Given the description of an element on the screen output the (x, y) to click on. 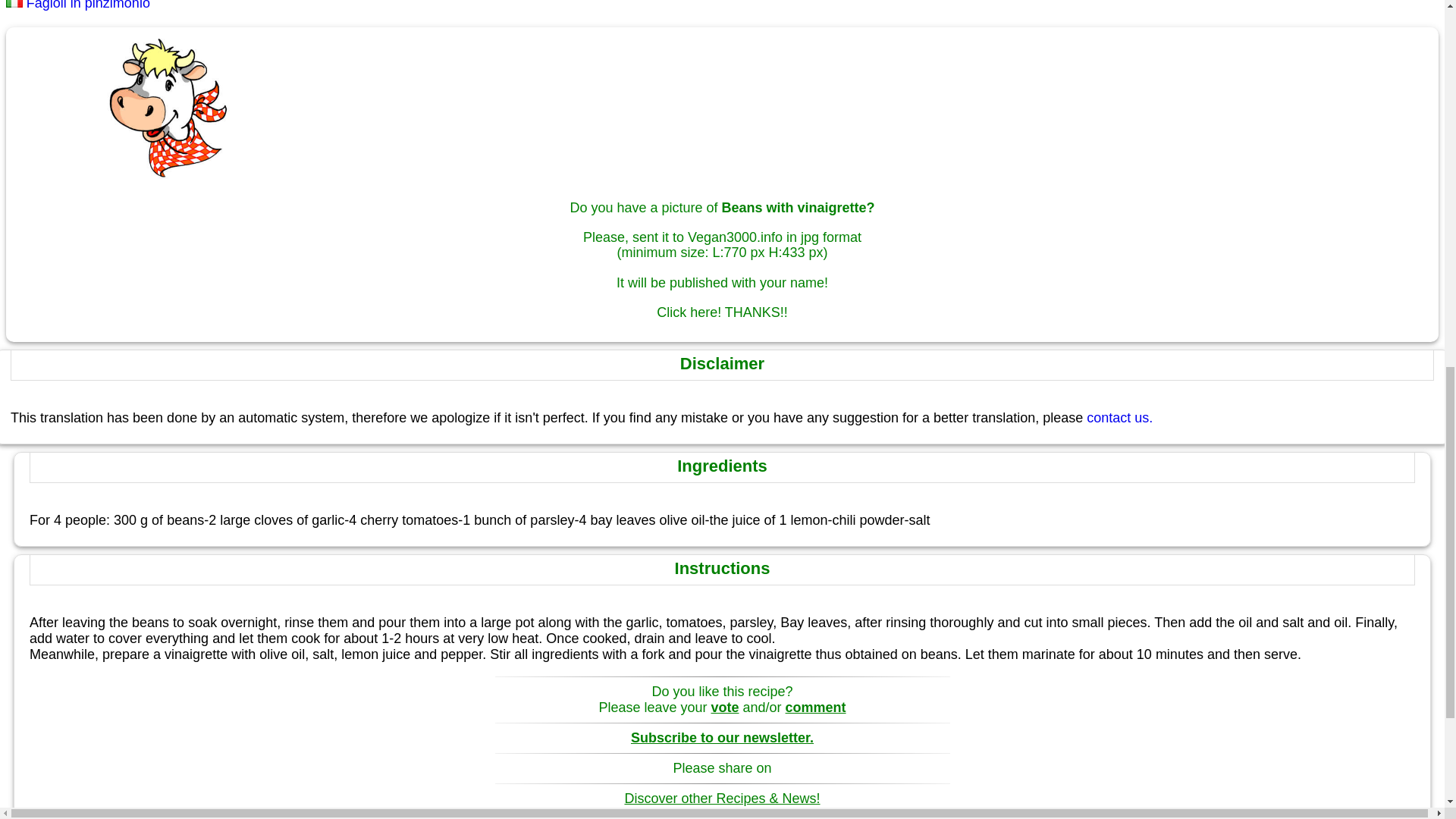
Subscribe to our newsletter. (721, 737)
contact us. (1119, 417)
vote (725, 707)
comment (815, 707)
Fagioli in pinzimonio (77, 5)
